Given the description of an element on the screen output the (x, y) to click on. 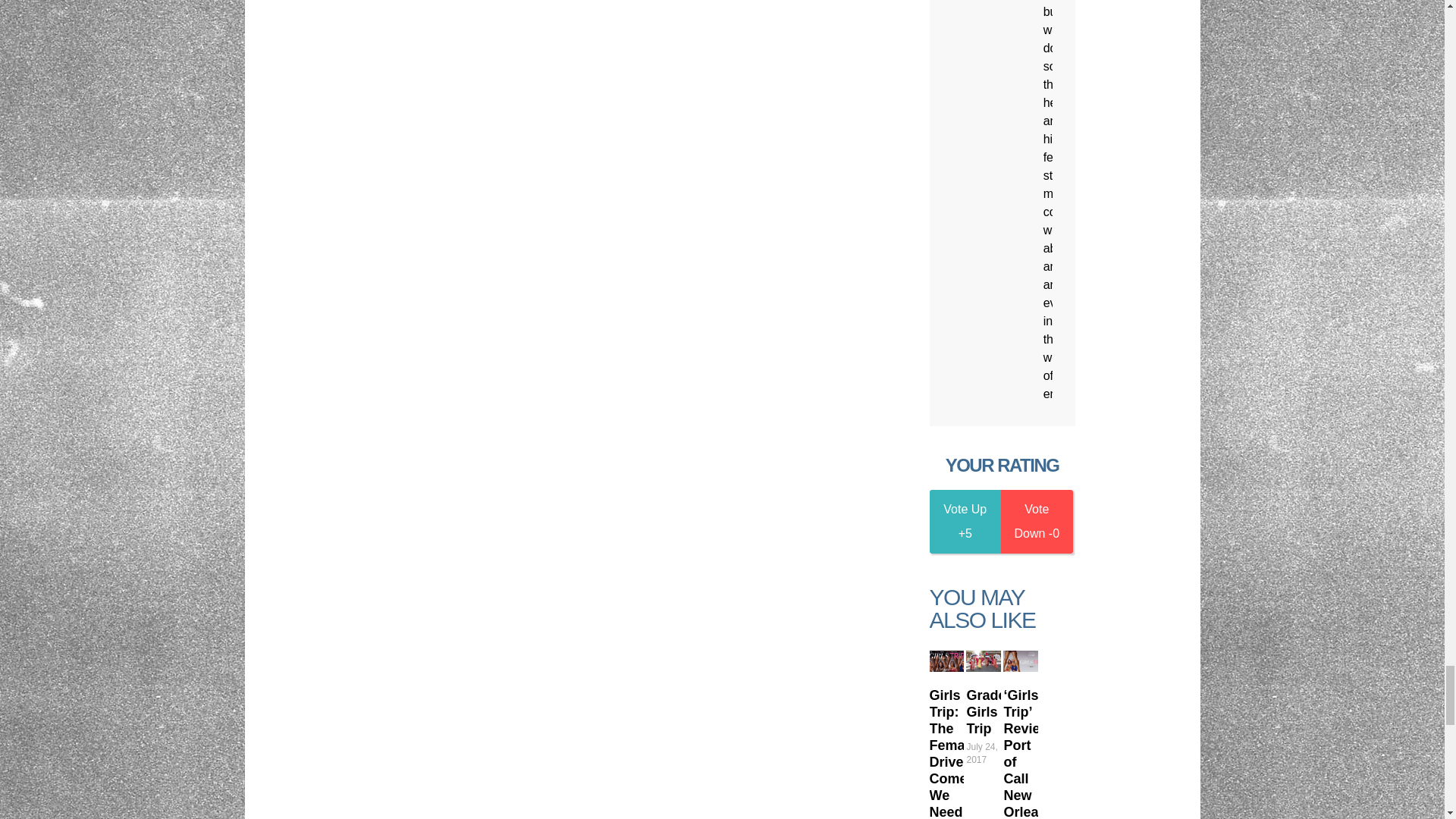
Girls Trip: The Female-Driven Comedy We Need (946, 660)
Gradebook: Girls Trip (1004, 711)
Gradebook: Girls Trip (983, 660)
